Given the description of an element on the screen output the (x, y) to click on. 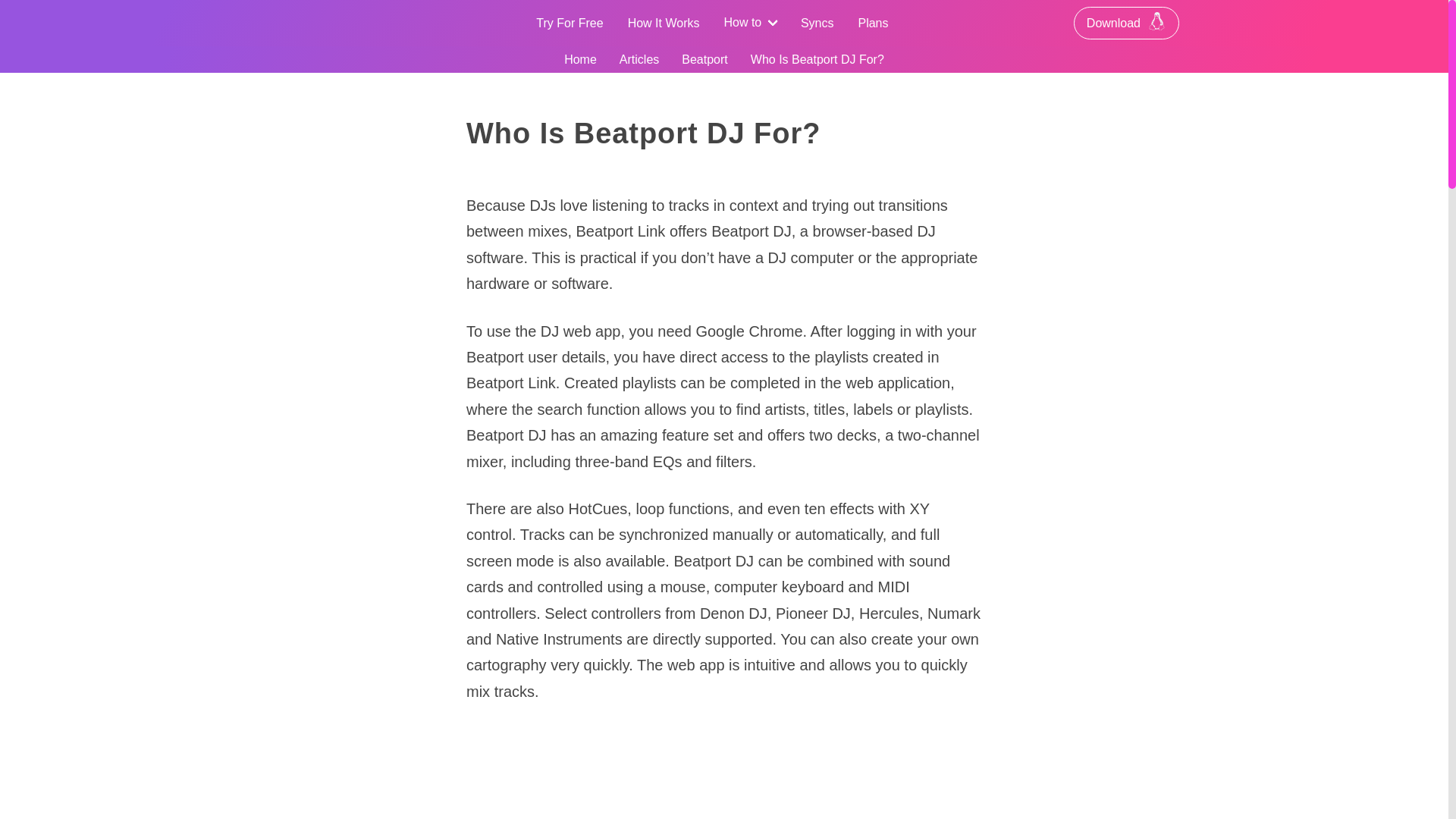
Go to the Beatport category archives. (703, 58)
Home (580, 58)
Articles (638, 58)
Download (1126, 22)
Try For Free (568, 23)
How to (749, 22)
Beatport (703, 58)
Syncs (817, 23)
How It Works (663, 23)
Plans (872, 23)
Go to Home. (580, 58)
Go to the Articles category archives. (638, 58)
